Given the description of an element on the screen output the (x, y) to click on. 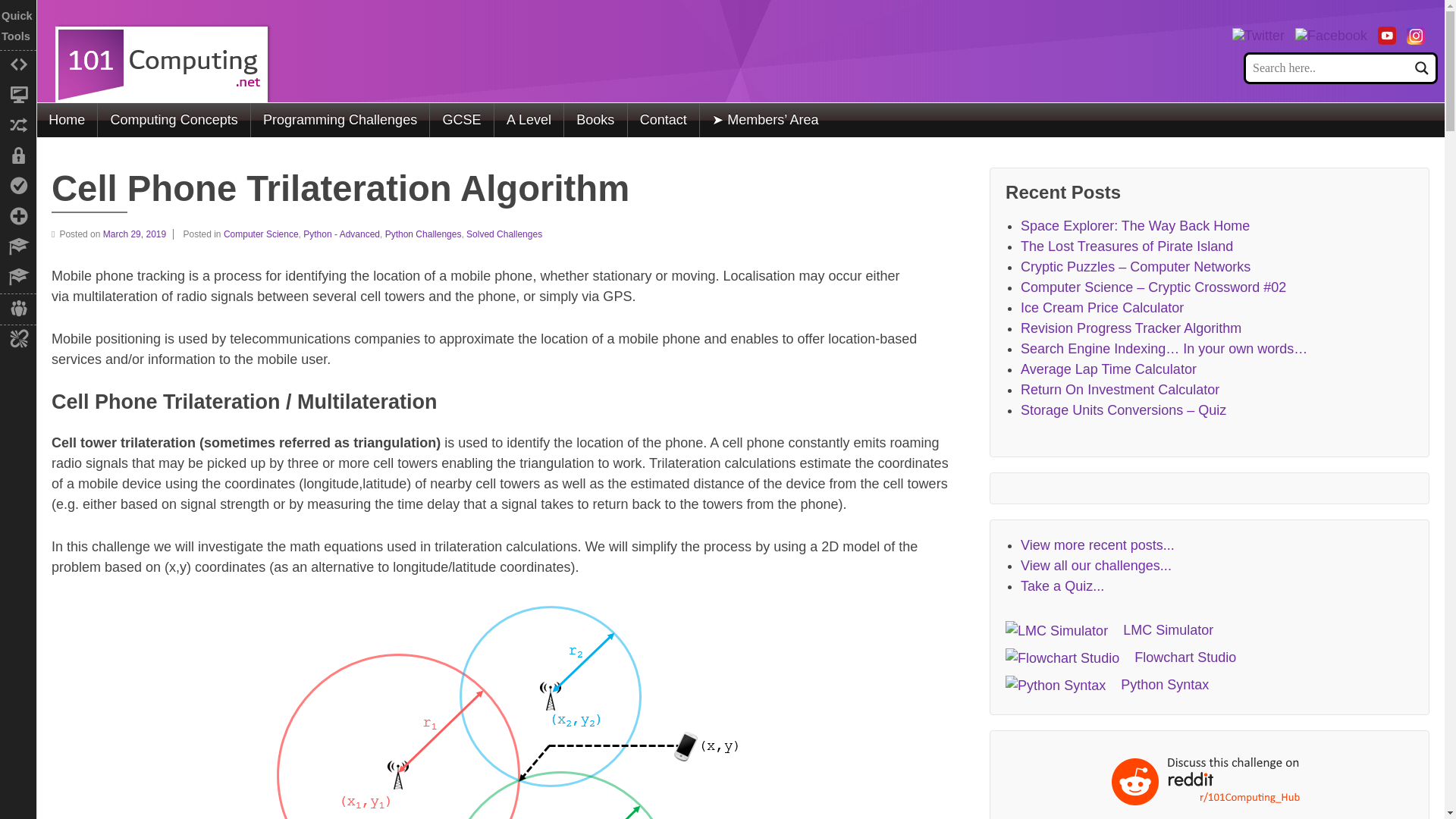
Home (66, 120)
Programming Challenges (339, 120)
Cell Phone Trilateration Algorithm (138, 234)
GCSE (461, 120)
A Level (528, 120)
Computing Concepts (172, 120)
